Given the description of an element on the screen output the (x, y) to click on. 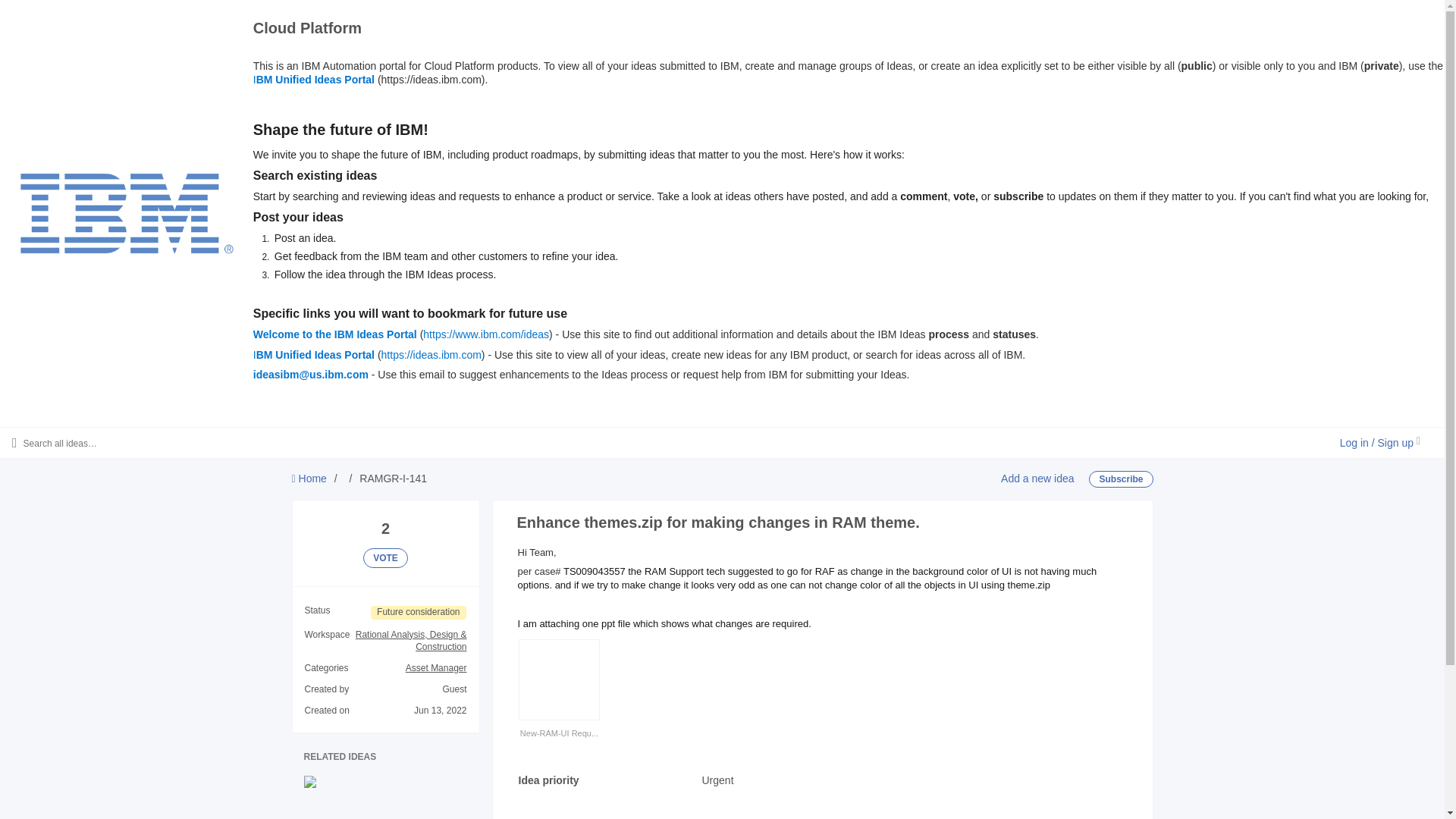
New-RAM-UI Requ... (558, 726)
VOTE (385, 557)
Subscribe (1121, 478)
Home (310, 478)
New-RAM-UI Requirement.pptm (558, 732)
Future consideration (418, 612)
IBM Unified Ideas Portal (313, 79)
IBM Unified Ideas Portal (313, 354)
Welcome to the IBM Ideas Portal (334, 334)
Add a new idea (1037, 478)
